Given the description of an element on the screen output the (x, y) to click on. 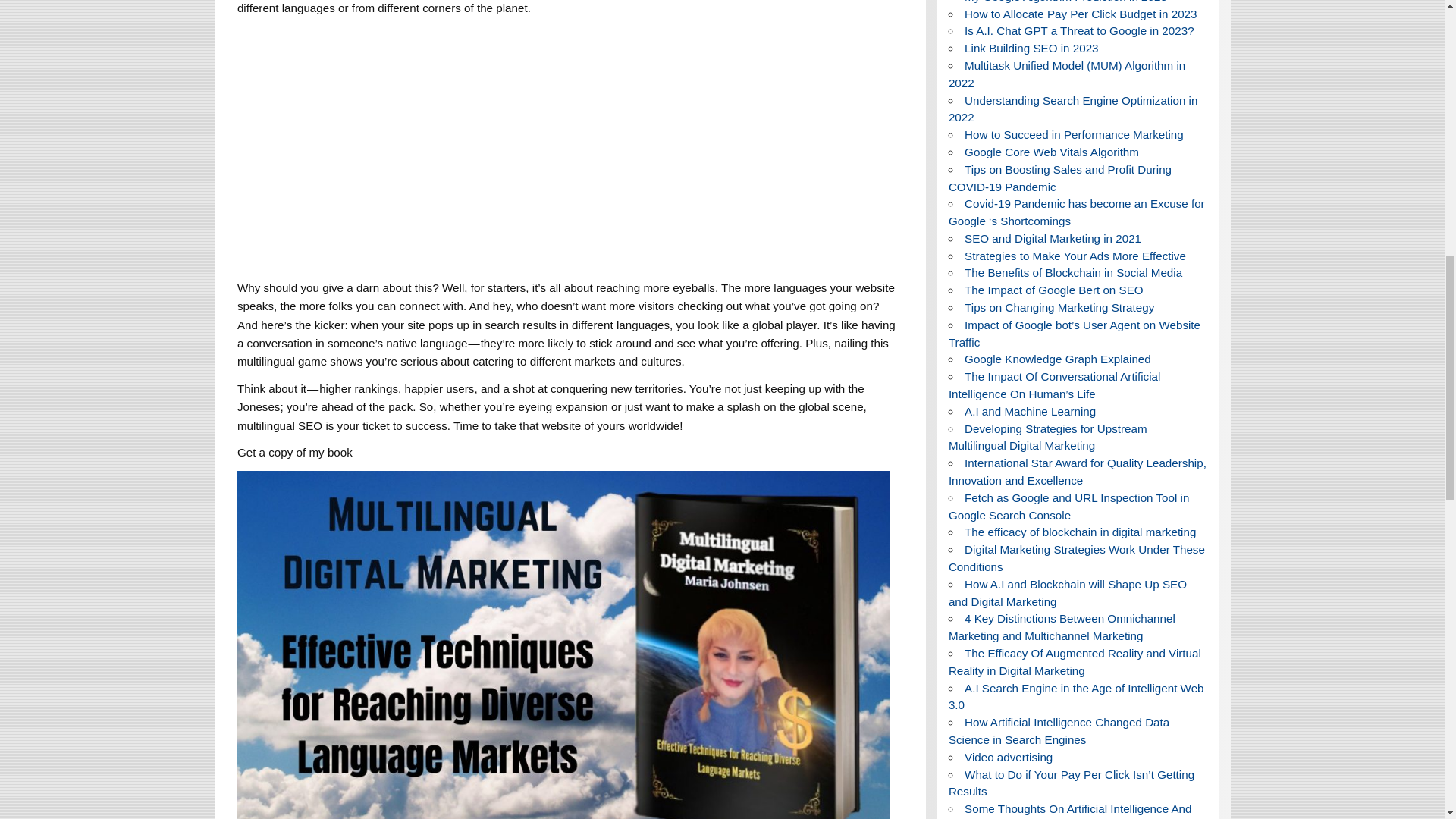
YouTube video player (449, 144)
